Given the description of an element on the screen output the (x, y) to click on. 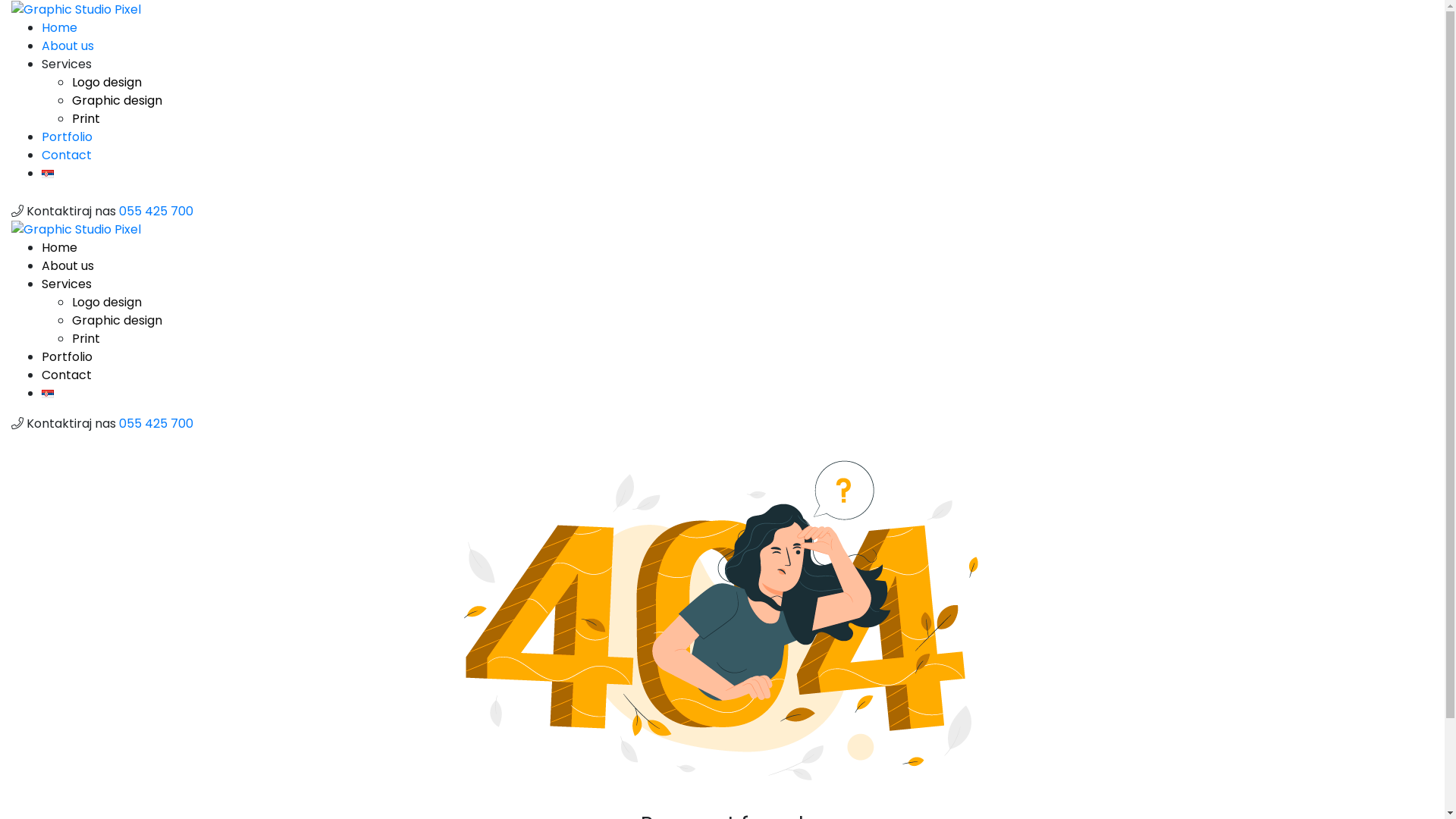
055 425 700 Element type: text (156, 210)
055 425 700 Element type: text (156, 423)
Services Element type: text (66, 63)
Logo design Element type: text (106, 301)
Graphic design Element type: text (117, 320)
About us Element type: text (67, 45)
Graphic design Element type: text (117, 100)
Home Element type: text (59, 247)
Portfolio Element type: text (66, 136)
Logo design Element type: text (106, 82)
Contact Element type: text (66, 154)
About us Element type: text (67, 265)
Print Element type: text (86, 338)
Print Element type: text (86, 118)
Portfolio Element type: text (66, 356)
Home Element type: text (59, 27)
Services Element type: text (66, 283)
Contact Element type: text (66, 374)
